Given the description of an element on the screen output the (x, y) to click on. 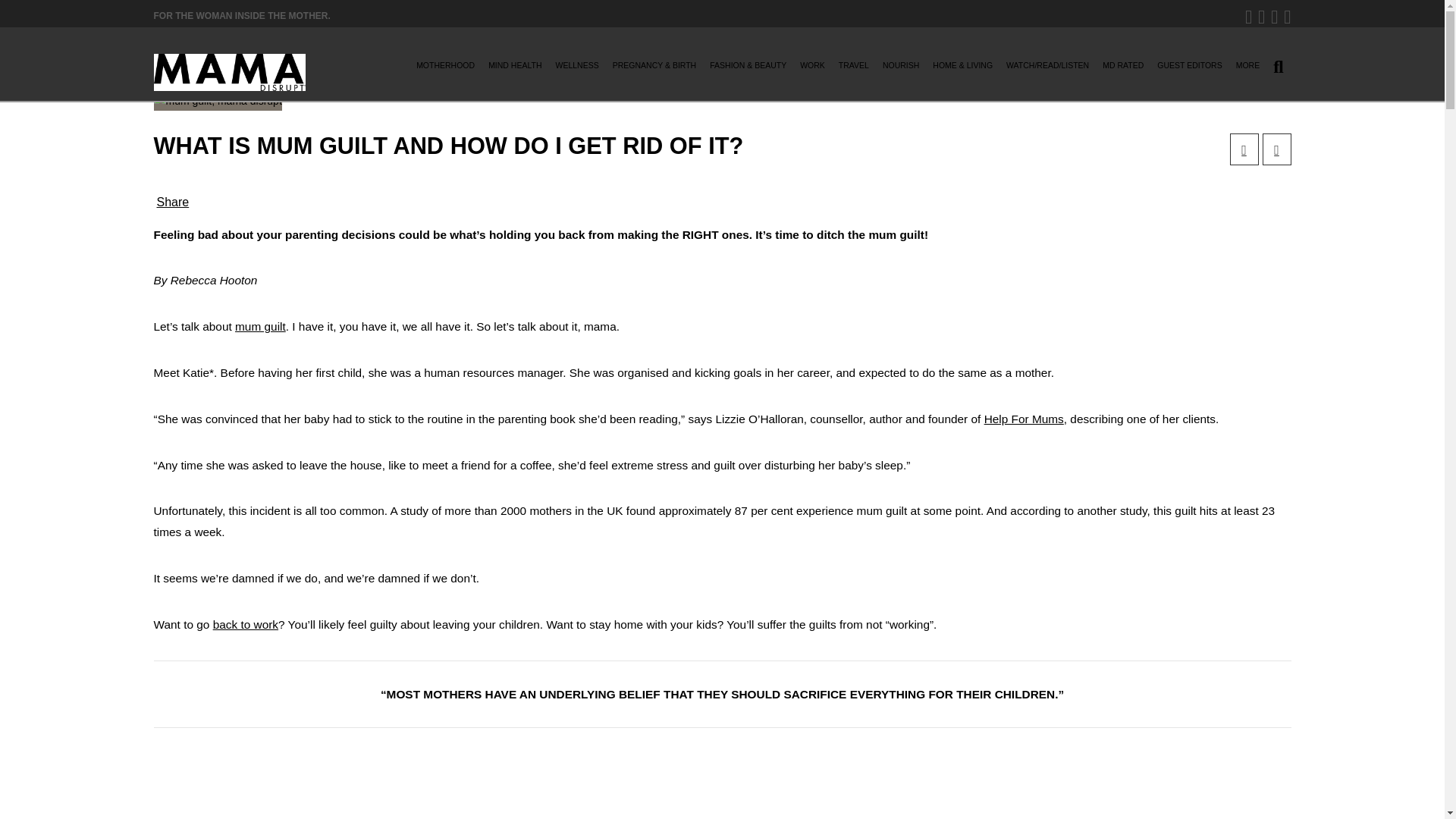
GUEST EDITORS (1189, 70)
MIND HEALTH (514, 70)
WELLNESS (577, 70)
MOTHERHOOD (445, 70)
